Given the description of an element on the screen output the (x, y) to click on. 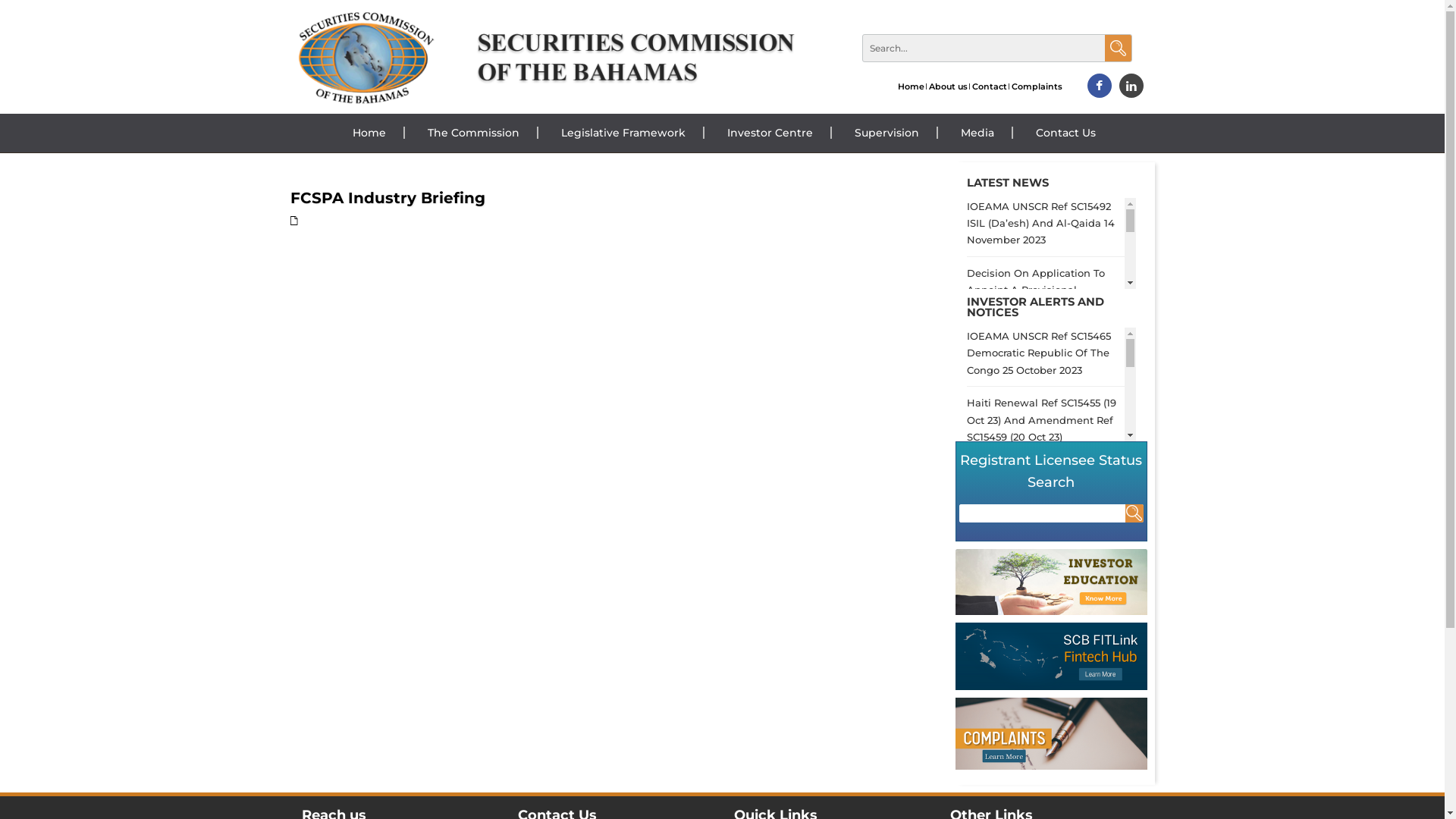
Complaints Element type: text (1036, 86)
Investor Centre Element type: text (769, 132)
Home Element type: text (368, 132)
Media Element type: text (977, 132)
LATEST NEWS Element type: text (1007, 182)
Home Element type: text (910, 86)
Legislative Framework Element type: text (622, 132)
Contact Element type: text (989, 86)
Search Element type: text (1134, 513)
INVESTOR ALERTS AND NOTICES Element type: text (1035, 307)
Contact Us Element type: text (1064, 132)
Supervision Element type: text (886, 132)
The Commission Element type: text (472, 132)
About us Element type: text (947, 86)
